Given the description of an element on the screen output the (x, y) to click on. 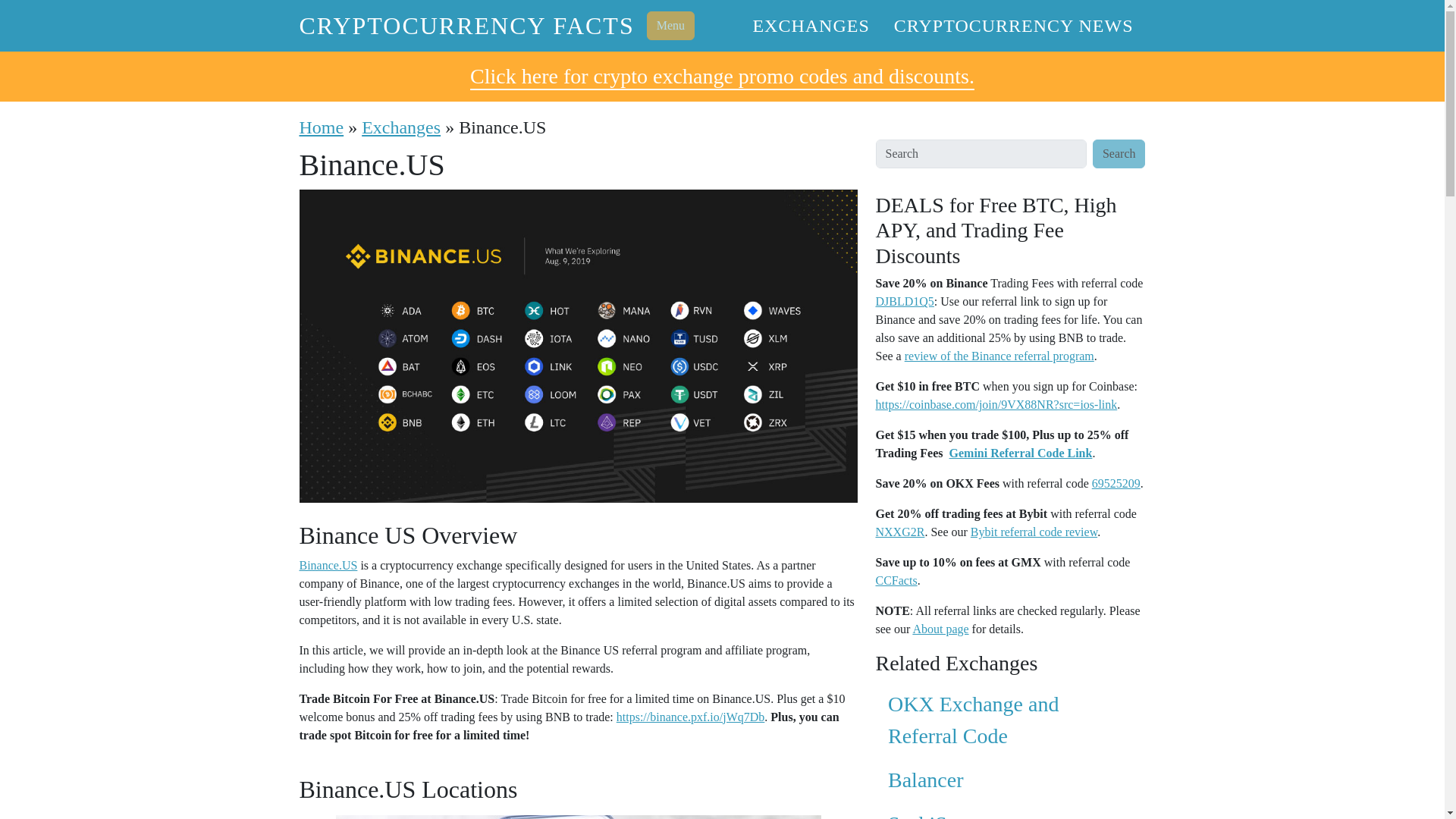
EXCHANGES (809, 25)
Menu (670, 25)
CRYPTOCURRENCY NEWS (1013, 25)
CRYPTOCURRENCY FACTS (465, 25)
